Given the description of an element on the screen output the (x, y) to click on. 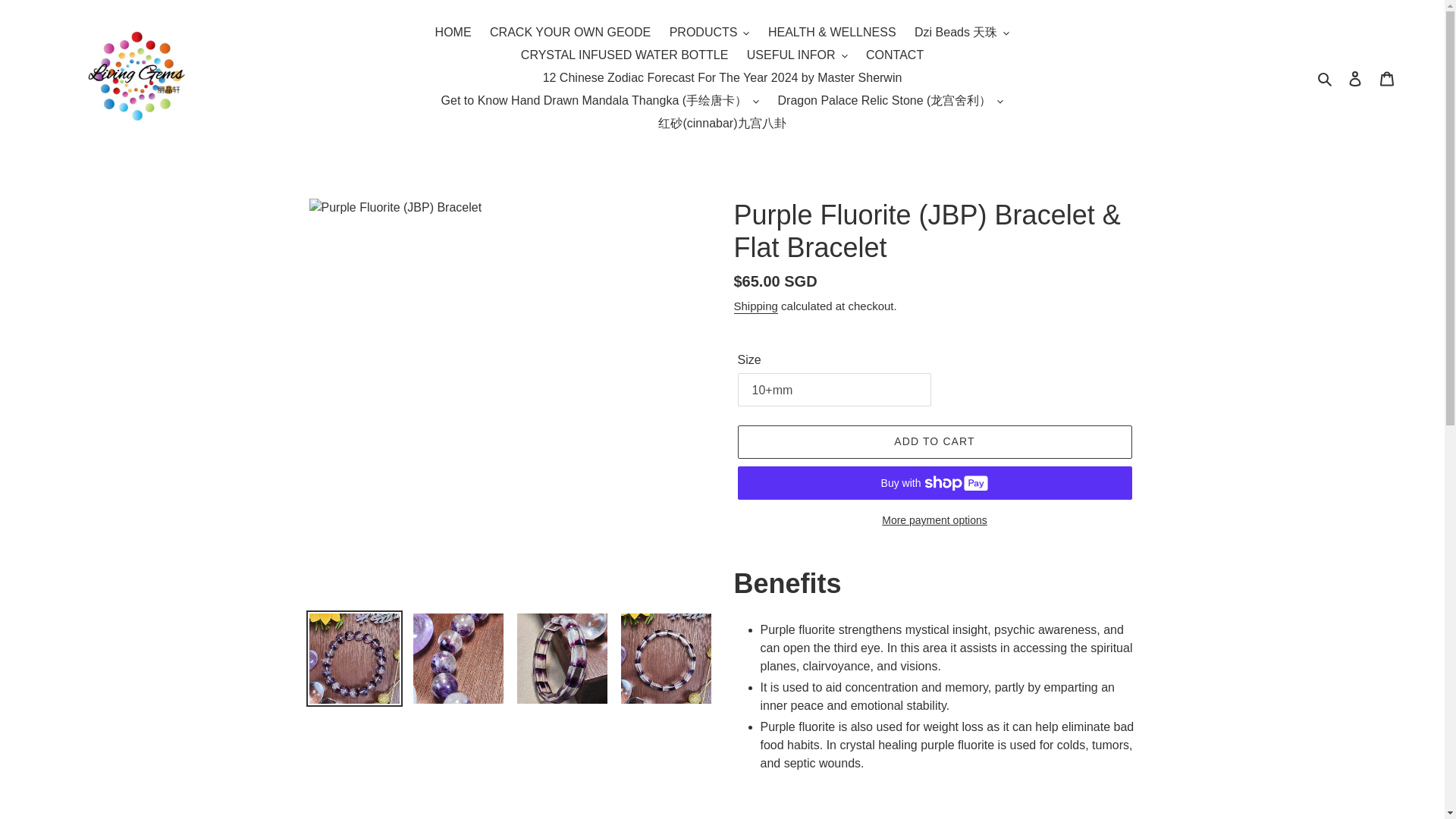
CRYSTAL INFUSED WATER BOTTLE (624, 55)
CONTACT (895, 55)
USEFUL INFOR (797, 55)
CRACK YOUR OWN GEODE (569, 32)
PRODUCTS (709, 32)
HOME (453, 32)
